Given the description of an element on the screen output the (x, y) to click on. 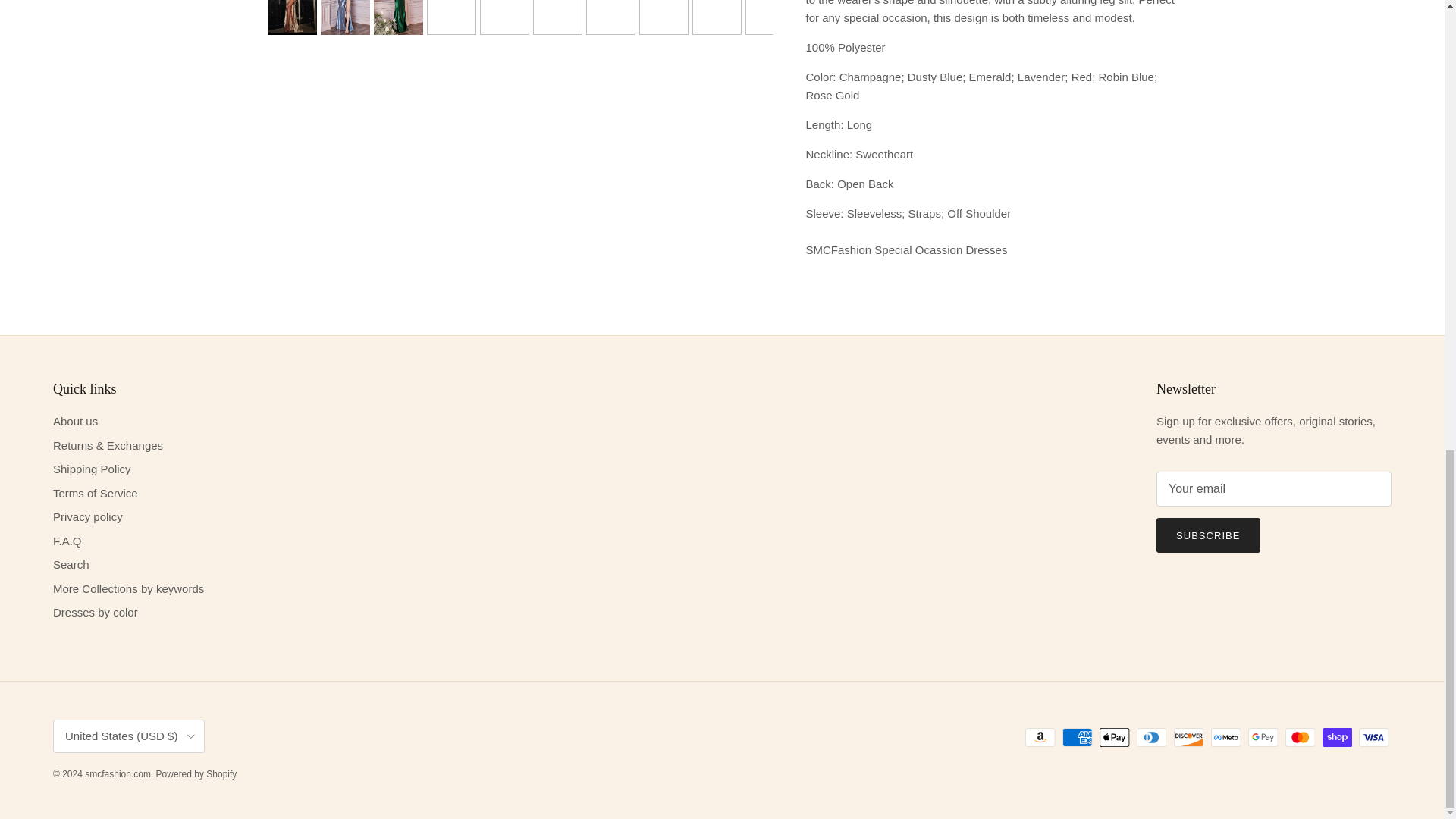
Amazon (1040, 737)
American Express (1077, 737)
Google Pay (1262, 737)
Shop Pay (1337, 737)
Meta Pay (1225, 737)
Diners Club (1151, 737)
Discover (1188, 737)
Visa (1373, 737)
Apple Pay (1114, 737)
Mastercard (1299, 737)
